Given the description of an element on the screen output the (x, y) to click on. 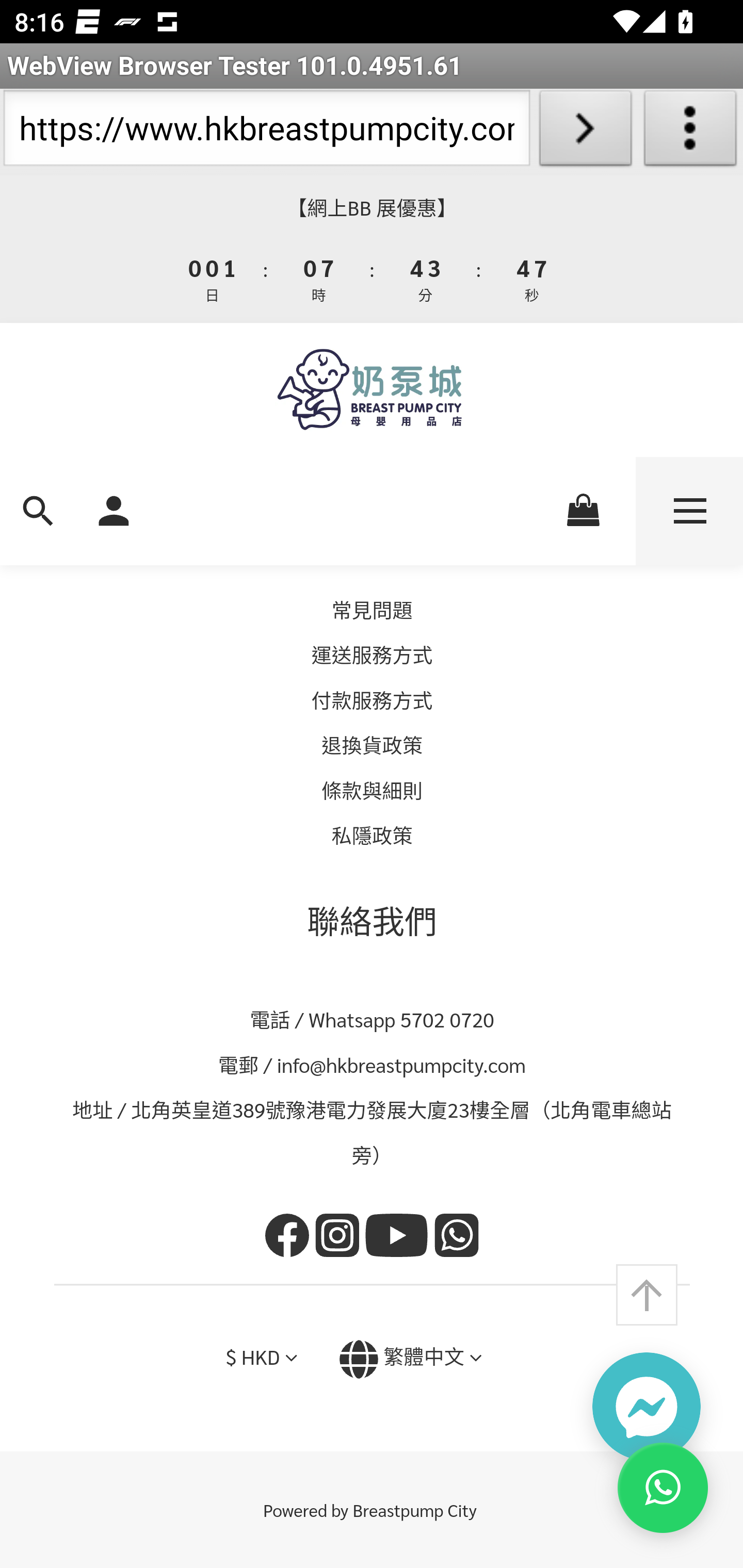
Load URL (585, 132)
About WebView (690, 132)
【網上BB 展優惠】 (371, 208)
594x (371, 390)
sign_in (113, 508)
常見問題 (371, 609)
運送服務方式 (371, 655)
付款服務方式 (371, 700)
退換貨政策 (372, 746)
條款與細則 (372, 790)
私隱政策 (371, 836)
聯絡我們 (372, 920)
電話 / Whatsapp 5702 0720 (372, 1019)
地址 / 北角英皇道389號豫港電力發展大廈23樓全層（北角電車總站旁） (372, 1133)
hk (289, 1238)
hkbreastpumpcity (340, 1238)
UCOya9do7lj-4xbkW39OUUfQ (399, 1238)
send?phone=85257020720&text=hello (456, 1238)
繁體中文  (410, 1360)
$   HKD  (261, 1358)
Powered by Breastpump City  (371, 1509)
